Given the description of an element on the screen output the (x, y) to click on. 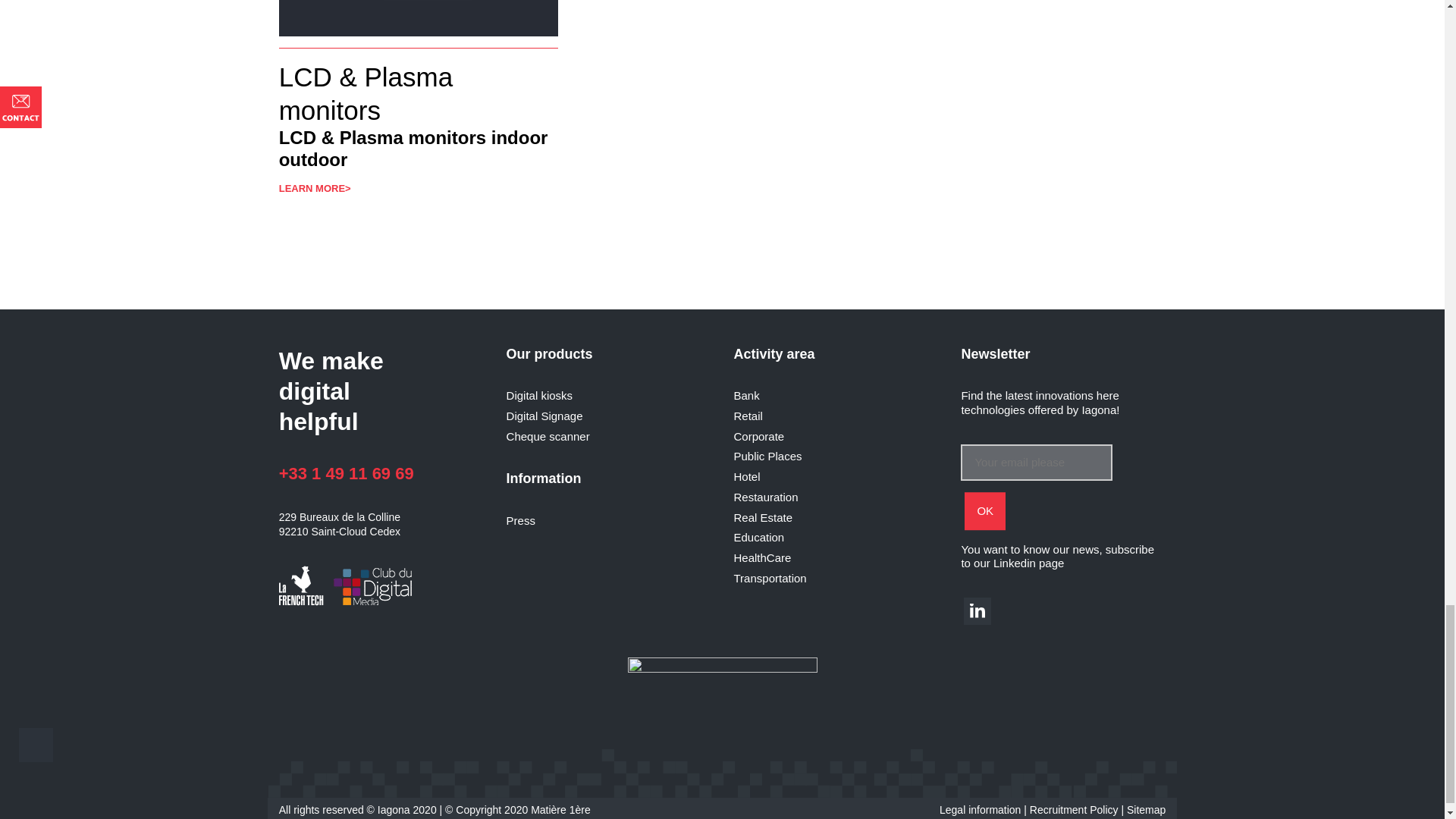
frenchtech-CDM (349, 586)
OK (984, 510)
iagona-footer (721, 695)
